Given the description of an element on the screen output the (x, y) to click on. 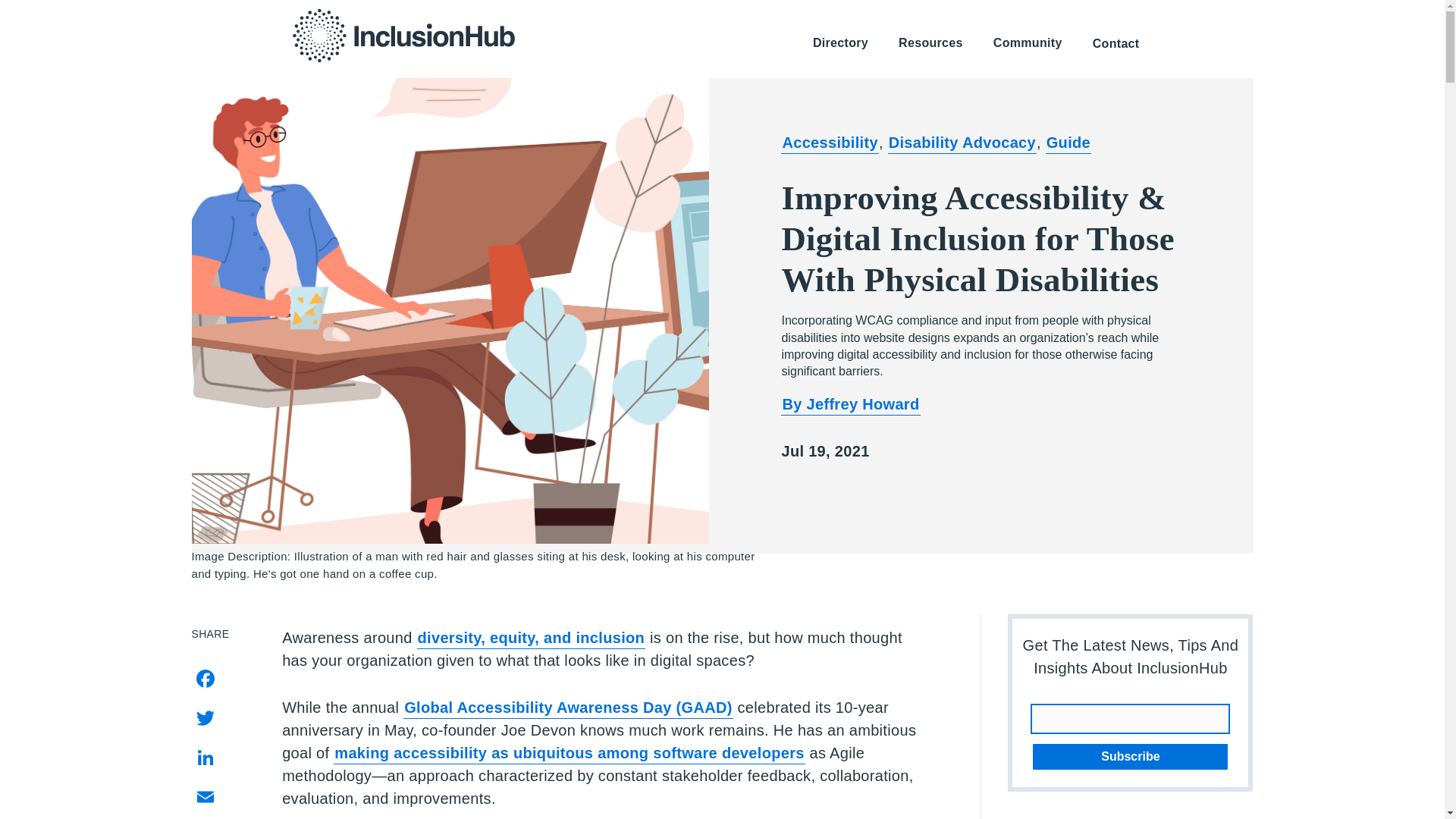
Guide (1067, 143)
Community (1027, 43)
Resources (930, 43)
Disability Advocacy (962, 143)
Skip to Landmark: Footer (1080, 14)
By Jeffrey Howard (850, 405)
Subscribe (1130, 757)
Skip to Landmark: Main (933, 14)
Directory (840, 43)
Twitter (222, 717)
